Given the description of an element on the screen output the (x, y) to click on. 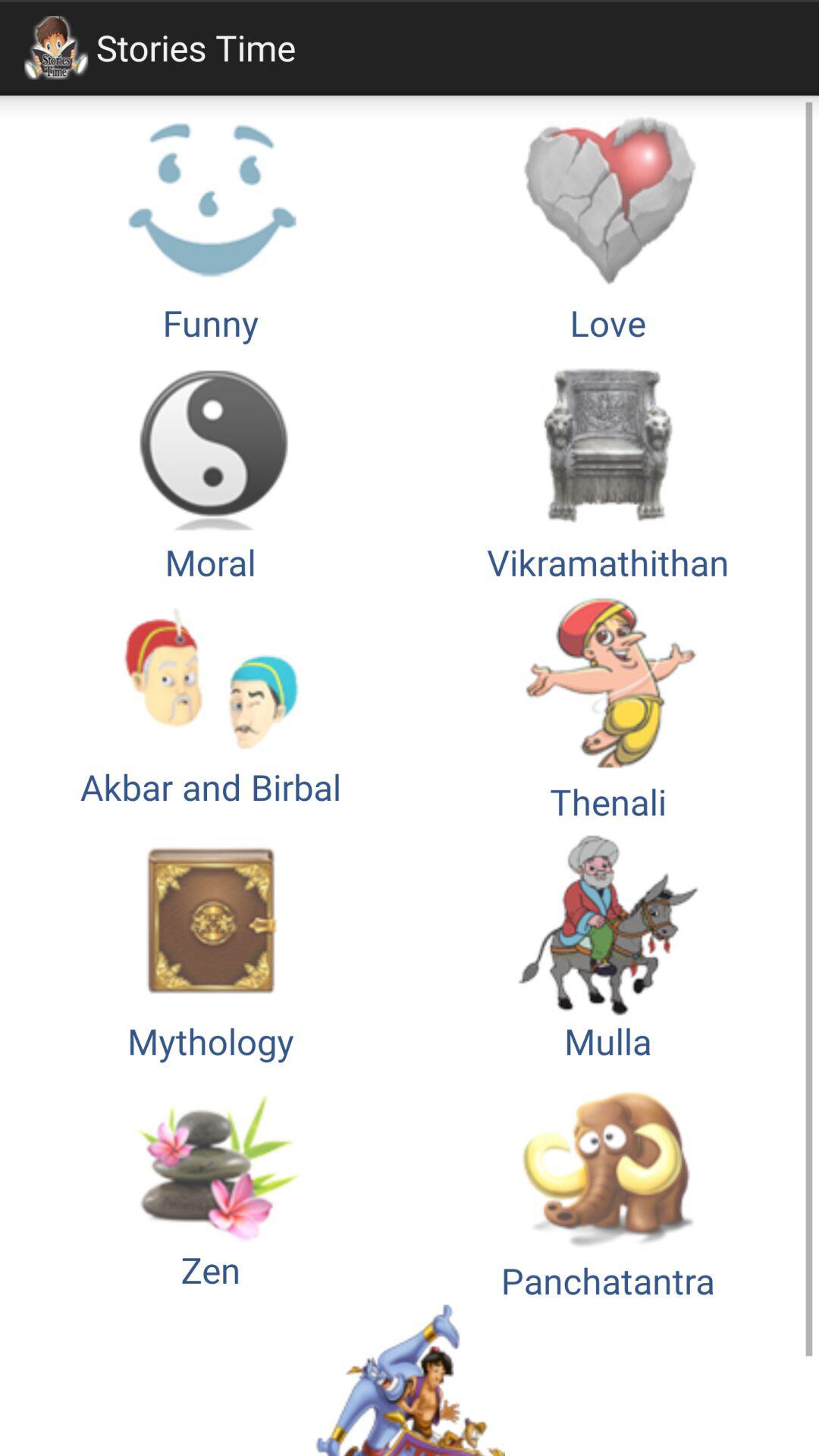
press the button to the left of the thenali icon (210, 945)
